Given the description of an element on the screen output the (x, y) to click on. 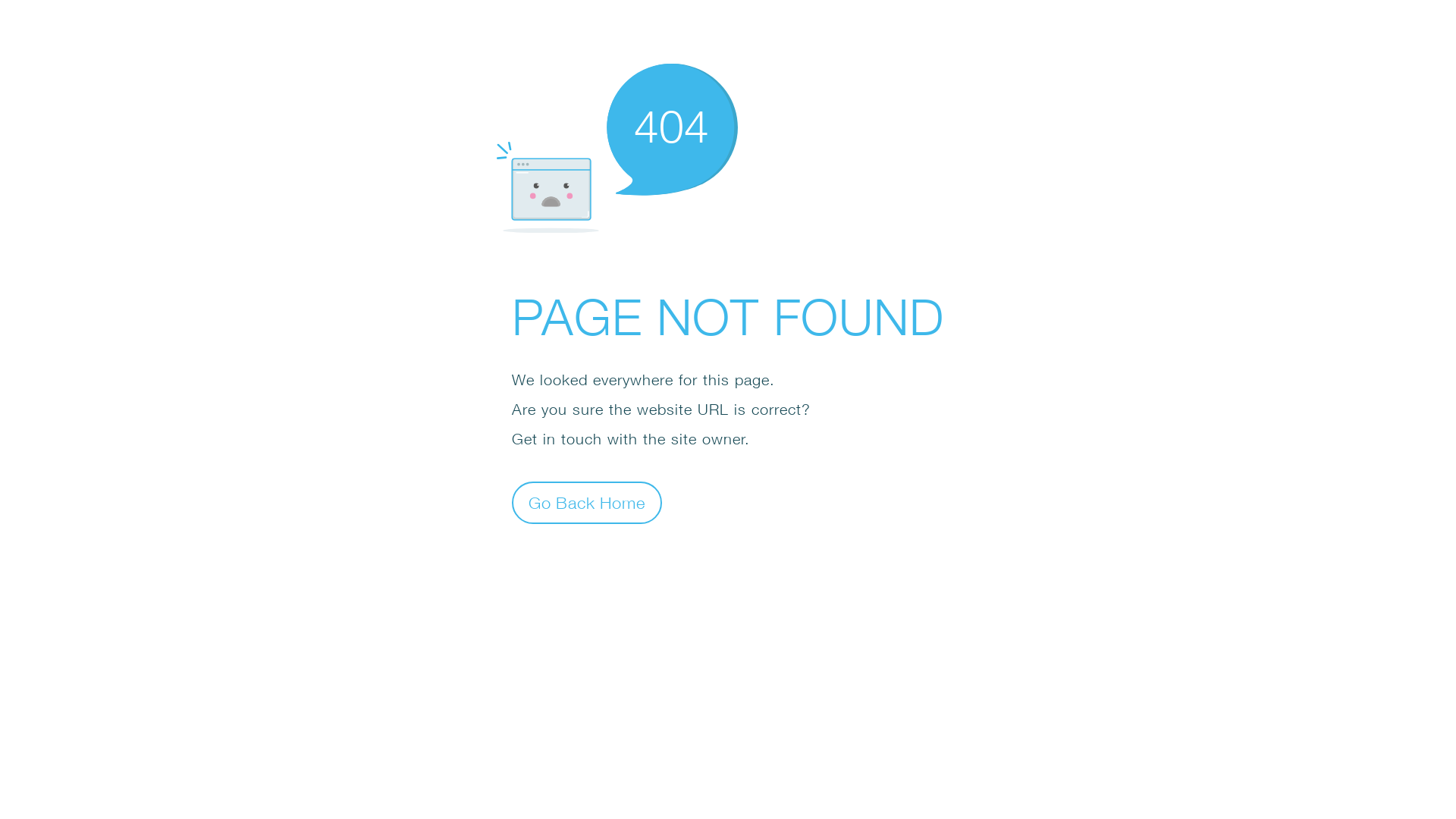
Go Back Home Element type: text (586, 502)
